Given the description of an element on the screen output the (x, y) to click on. 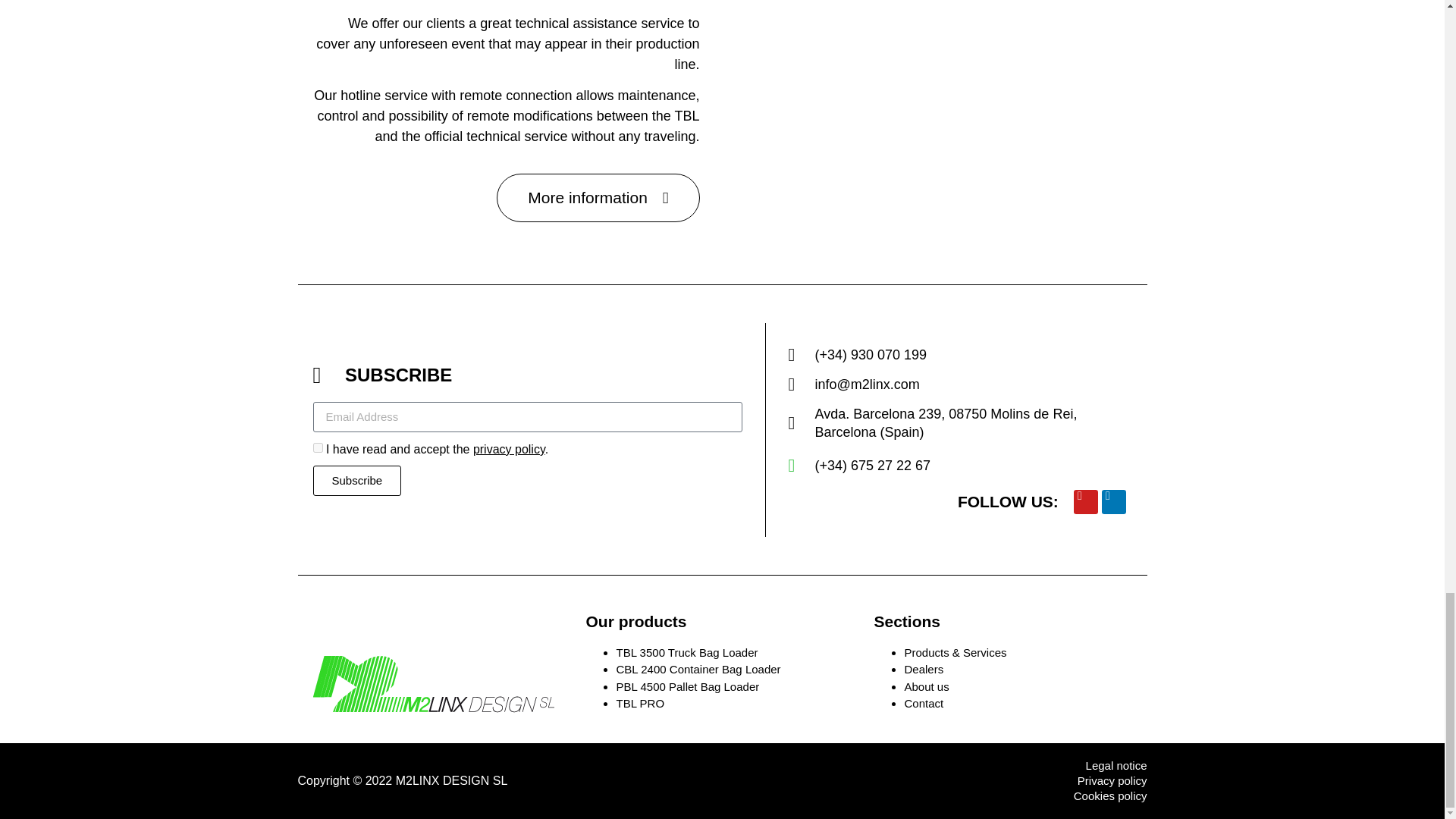
on (317, 447)
Cookies policy (938, 795)
About us (926, 686)
Legal notice (938, 765)
Privacy policy (938, 780)
TBL PRO (639, 703)
Dealers (923, 668)
Subscribe (357, 481)
More information (597, 197)
Contact (923, 703)
